Given the description of an element on the screen output the (x, y) to click on. 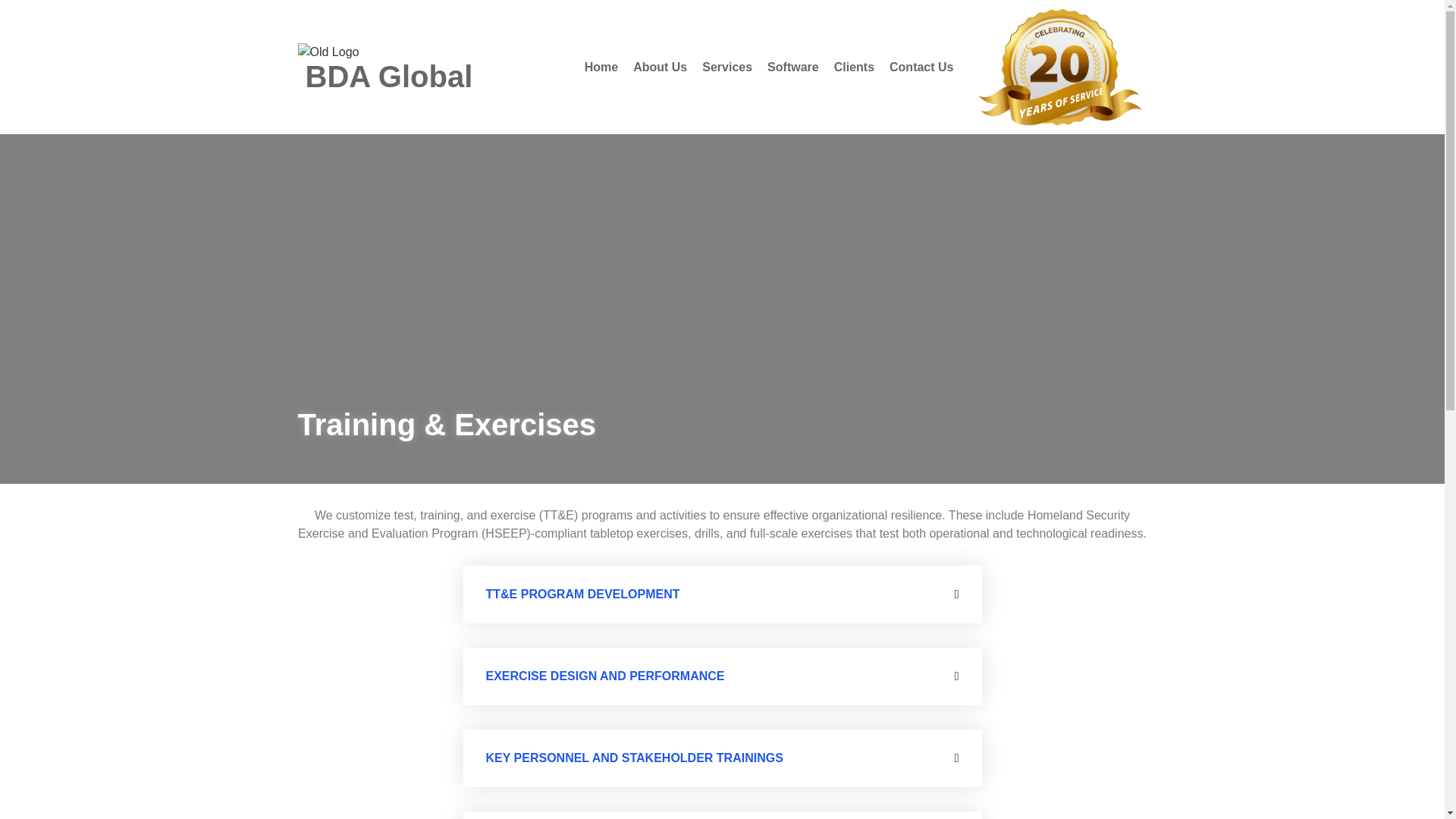
Old Logo (327, 52)
